Given the description of an element on the screen output the (x, y) to click on. 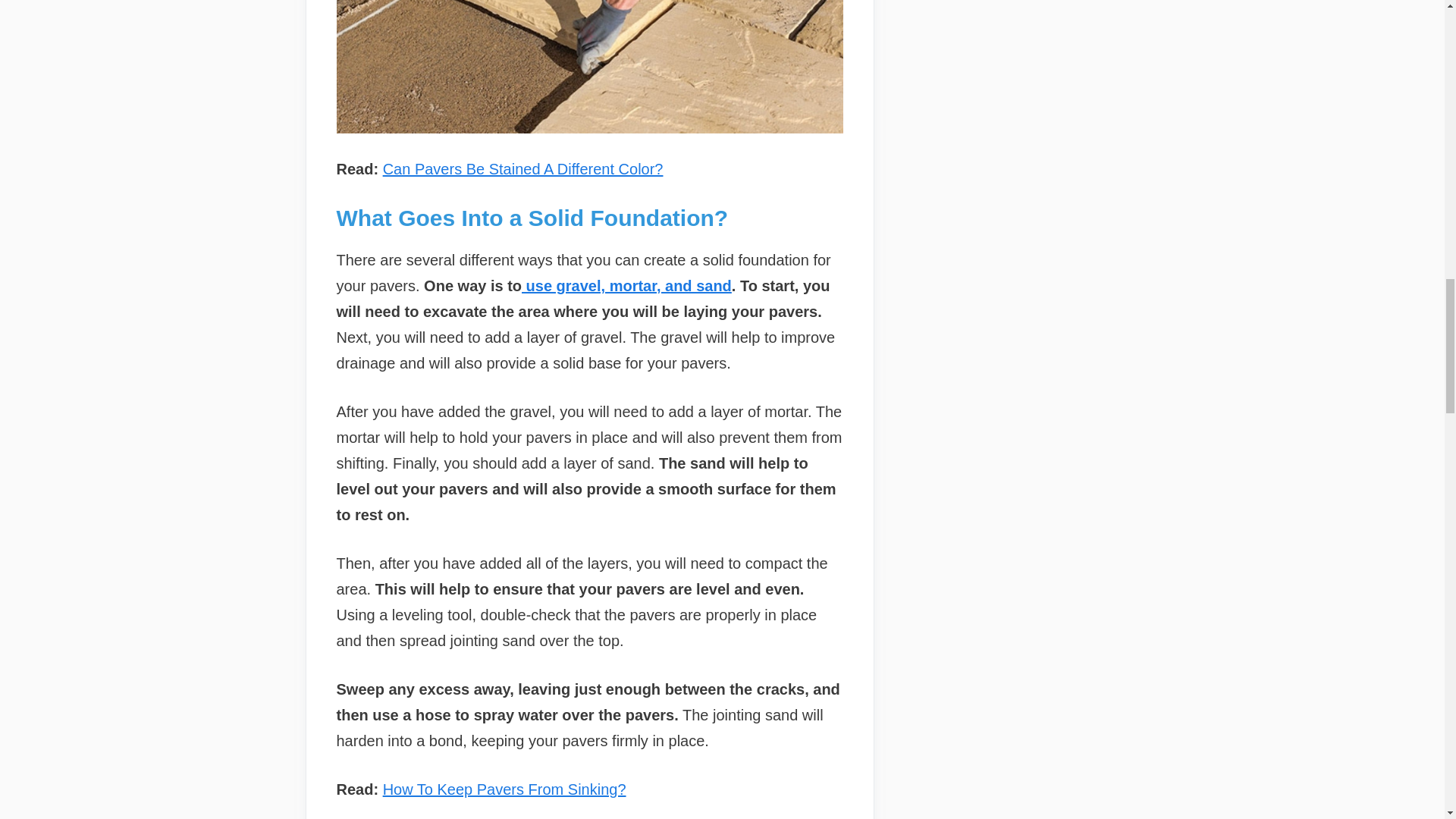
Can Pavers Be Stained A Different Color? (522, 168)
use gravel, mortar, and sand (626, 285)
How To Keep Pavers From Sinking? (504, 789)
